Given the description of an element on the screen output the (x, y) to click on. 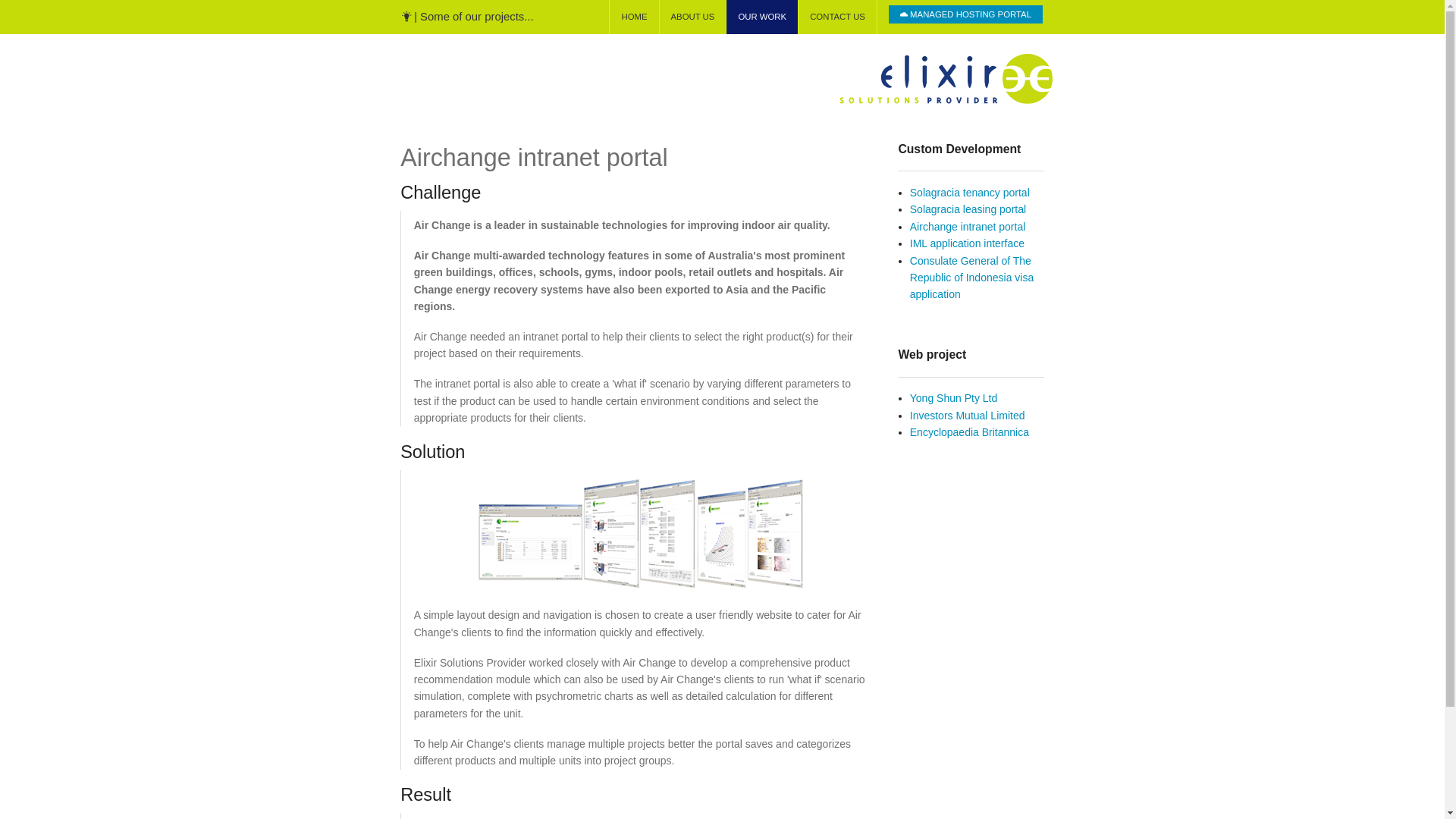
Airchange intranet portal Element type: text (968, 226)
CONTACT US Element type: text (837, 17)
Solagracia leasing portal Element type: text (968, 209)
MANAGED HOSTING PORTAL Element type: text (965, 14)
OUR WORK Element type: text (761, 17)
Solagracia tenancy portal Element type: text (969, 192)
IML application interface Element type: text (967, 243)
| Some of our projects... Element type: text (467, 17)
Encyclopaedia Britannica Element type: text (969, 432)
Investors Mutual Limited Element type: text (967, 415)
ABOUT US Element type: text (692, 17)
Yong Shun Pty Ltd Element type: text (953, 398)
HOME Element type: text (633, 17)
